Given the description of an element on the screen output the (x, y) to click on. 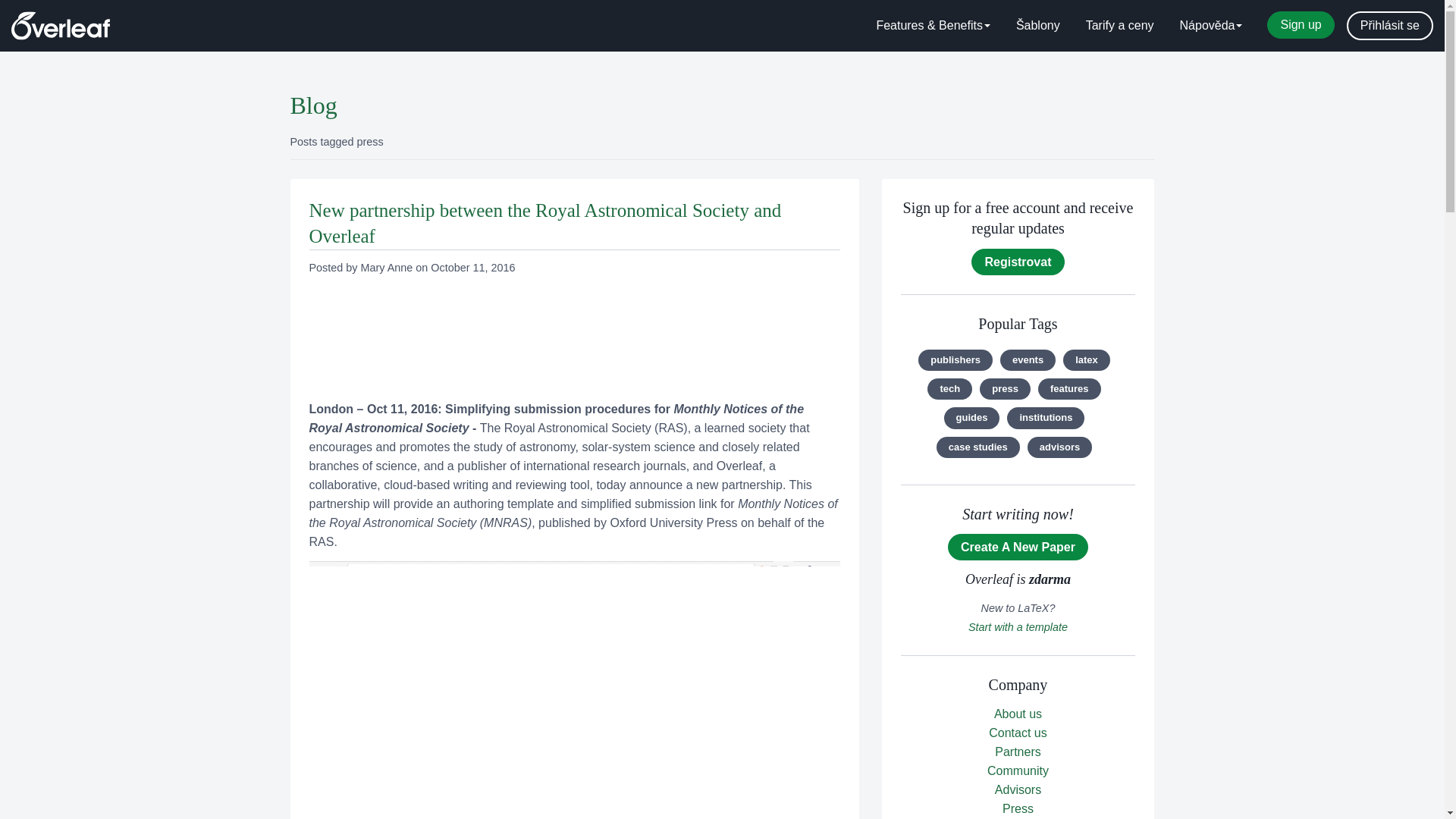
Tarify a ceny (1120, 25)
Sign up (1299, 24)
Blog (312, 104)
